Given the description of an element on the screen output the (x, y) to click on. 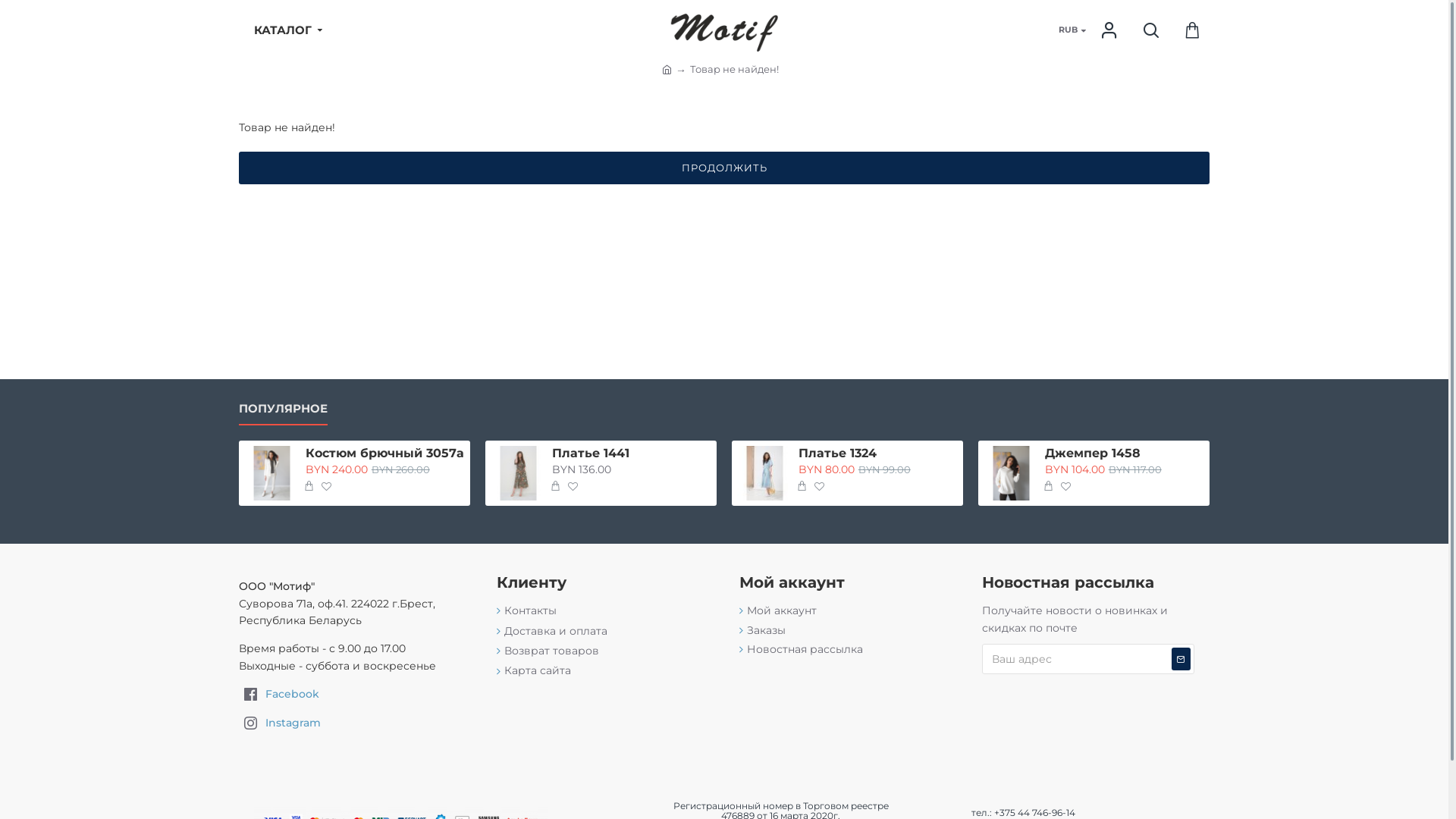
RUB Element type: text (1065, 30)
Facebook Element type: text (352, 695)
Instagram Element type: text (352, 724)
